Given the description of an element on the screen output the (x, y) to click on. 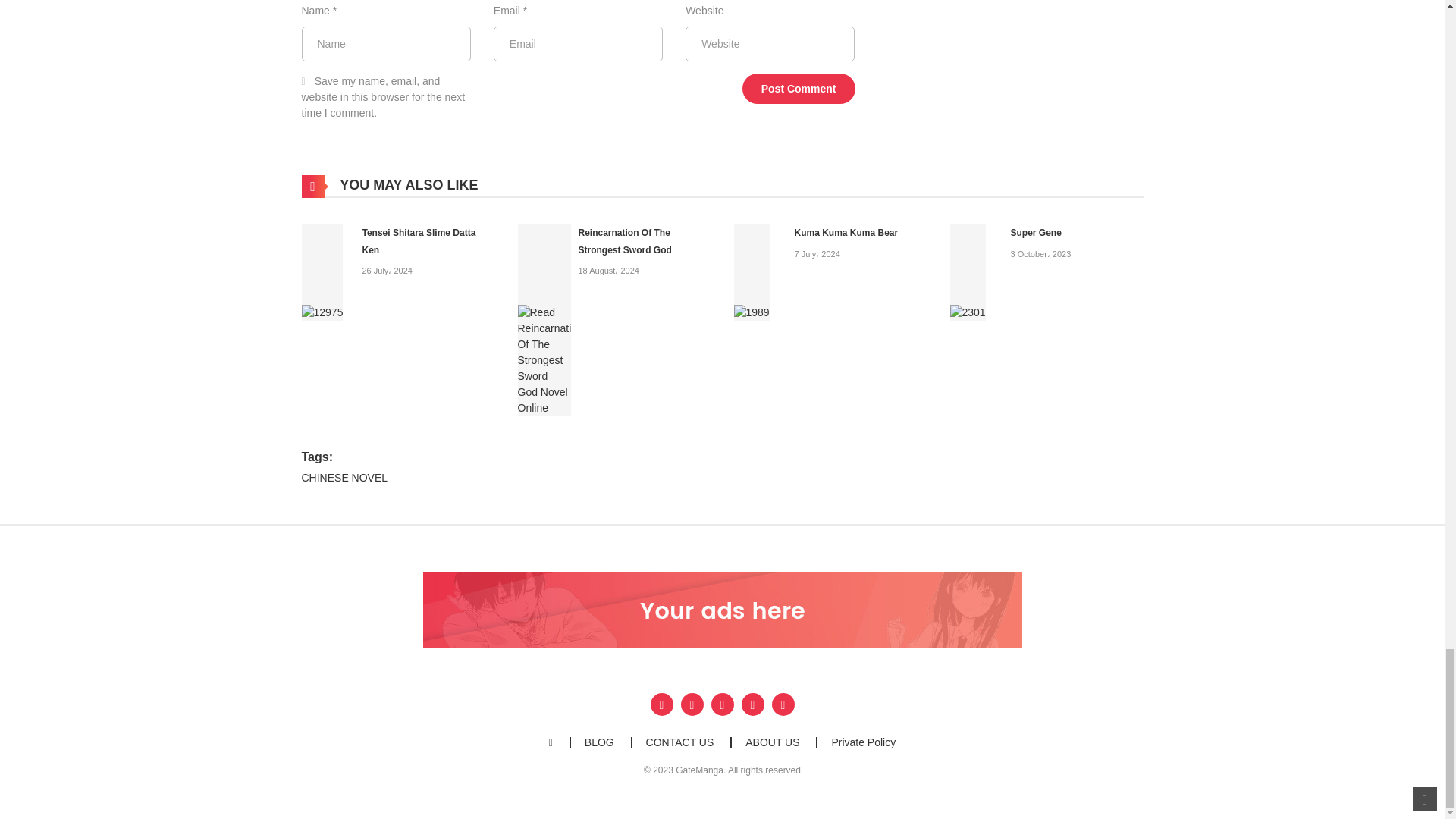
Super Gene (967, 271)
Reincarnation Of The Strongest Sword God (543, 318)
Kuma Kuma Kuma Bear (751, 271)
Tensei Shitara Slime Datta Ken (322, 271)
Tensei Shitara Slime Datta Ken (419, 241)
Kuma Kuma Kuma Bear (846, 232)
Reincarnation Of The Strongest Sword God (624, 241)
Post Comment (799, 88)
